Given the description of an element on the screen output the (x, y) to click on. 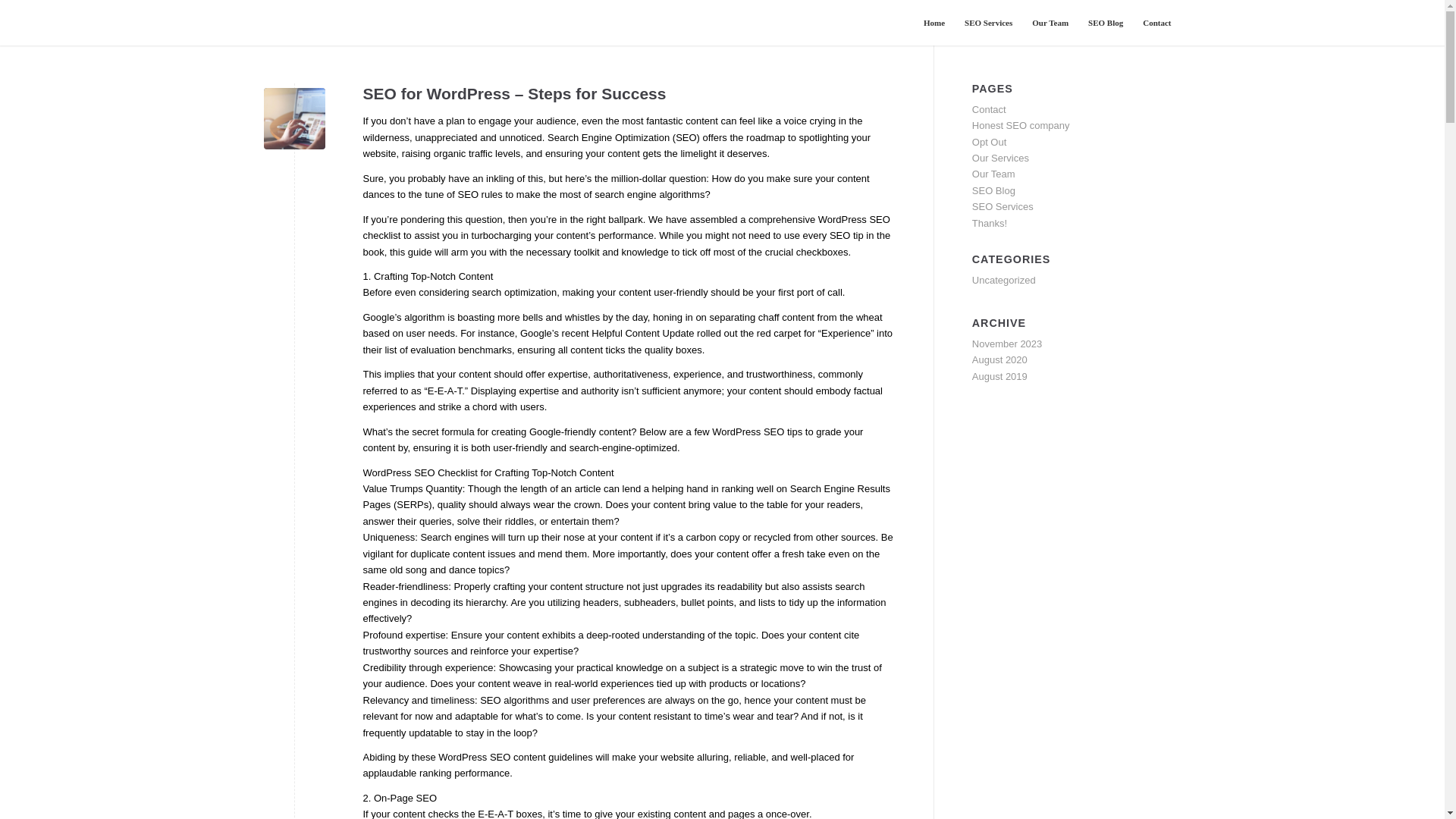
August 2020 (999, 359)
wordpress seo tips (293, 118)
Uncategorized (1003, 279)
SEO Services (988, 22)
November 2023 (1007, 343)
Contact (1156, 22)
Opt Out (989, 142)
SEO Services (1002, 206)
Contact (989, 109)
SEO Blog (993, 190)
Our Services (1000, 157)
Honest SEO company (1021, 125)
Home (934, 22)
Our Team (1050, 22)
Our Team (993, 173)
